Given the description of an element on the screen output the (x, y) to click on. 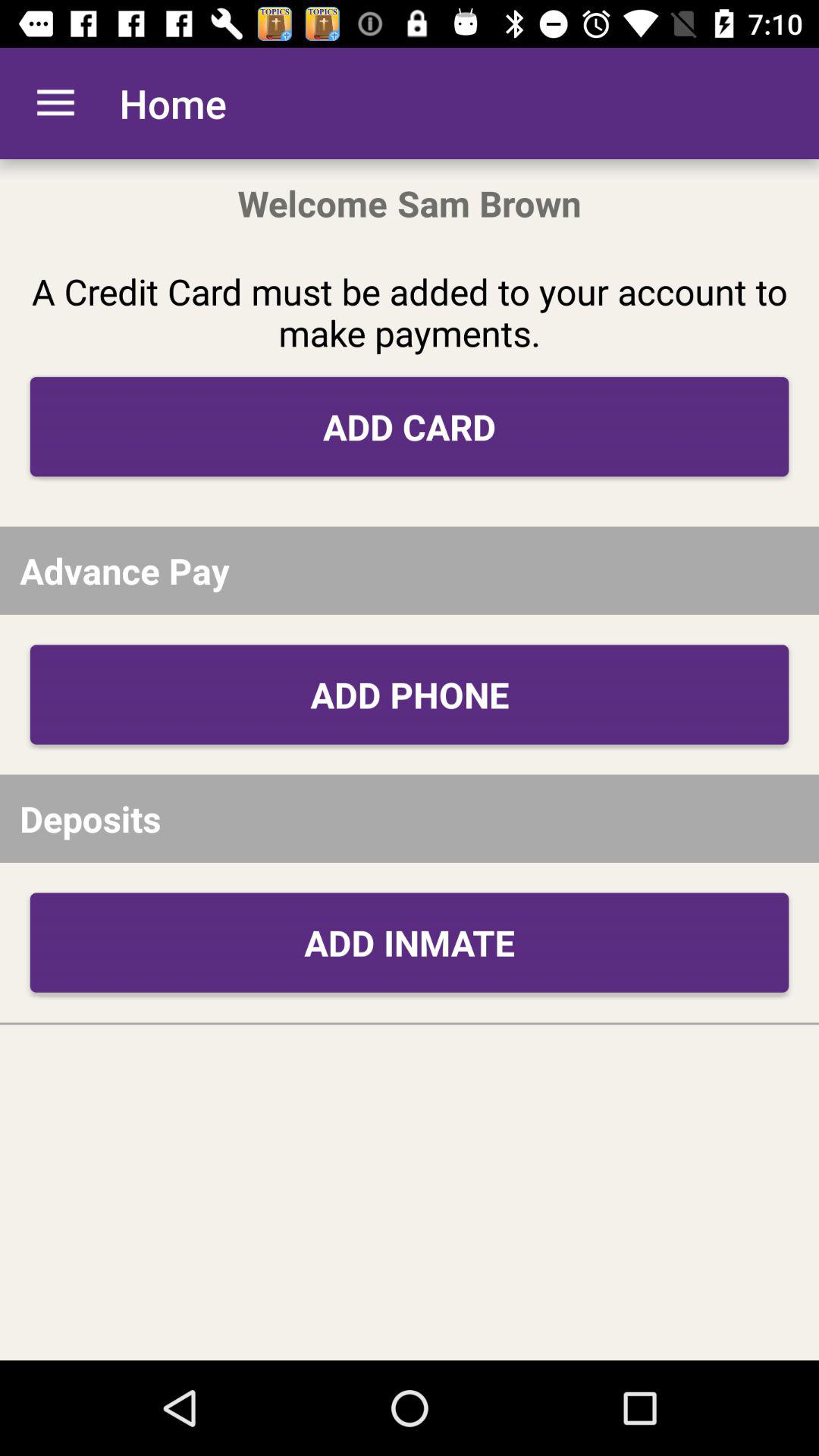
click item above deposits icon (409, 694)
